Given the description of an element on the screen output the (x, y) to click on. 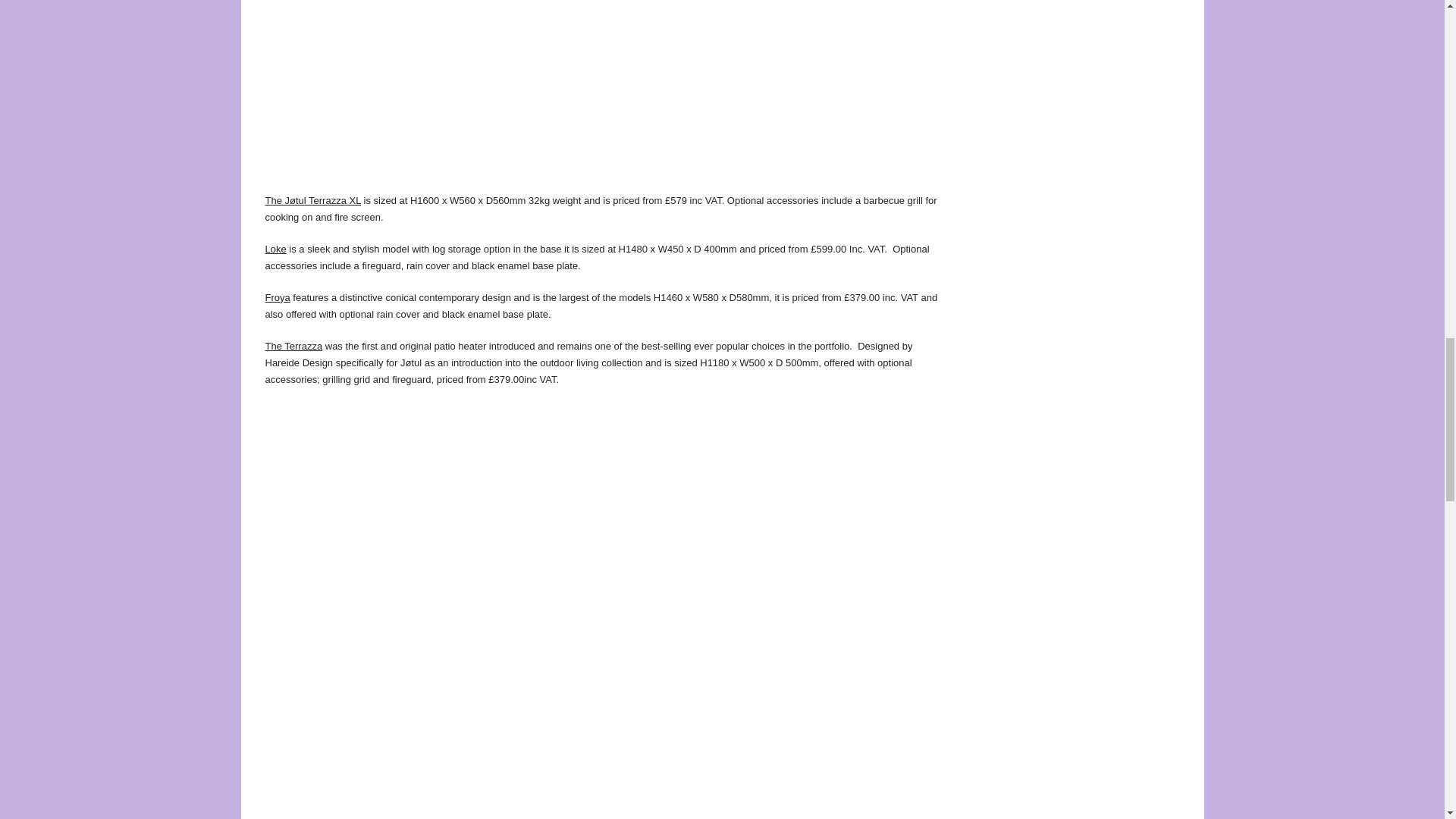
The Terrazza (293, 346)
Froya (276, 297)
Loke (275, 248)
